Given the description of an element on the screen output the (x, y) to click on. 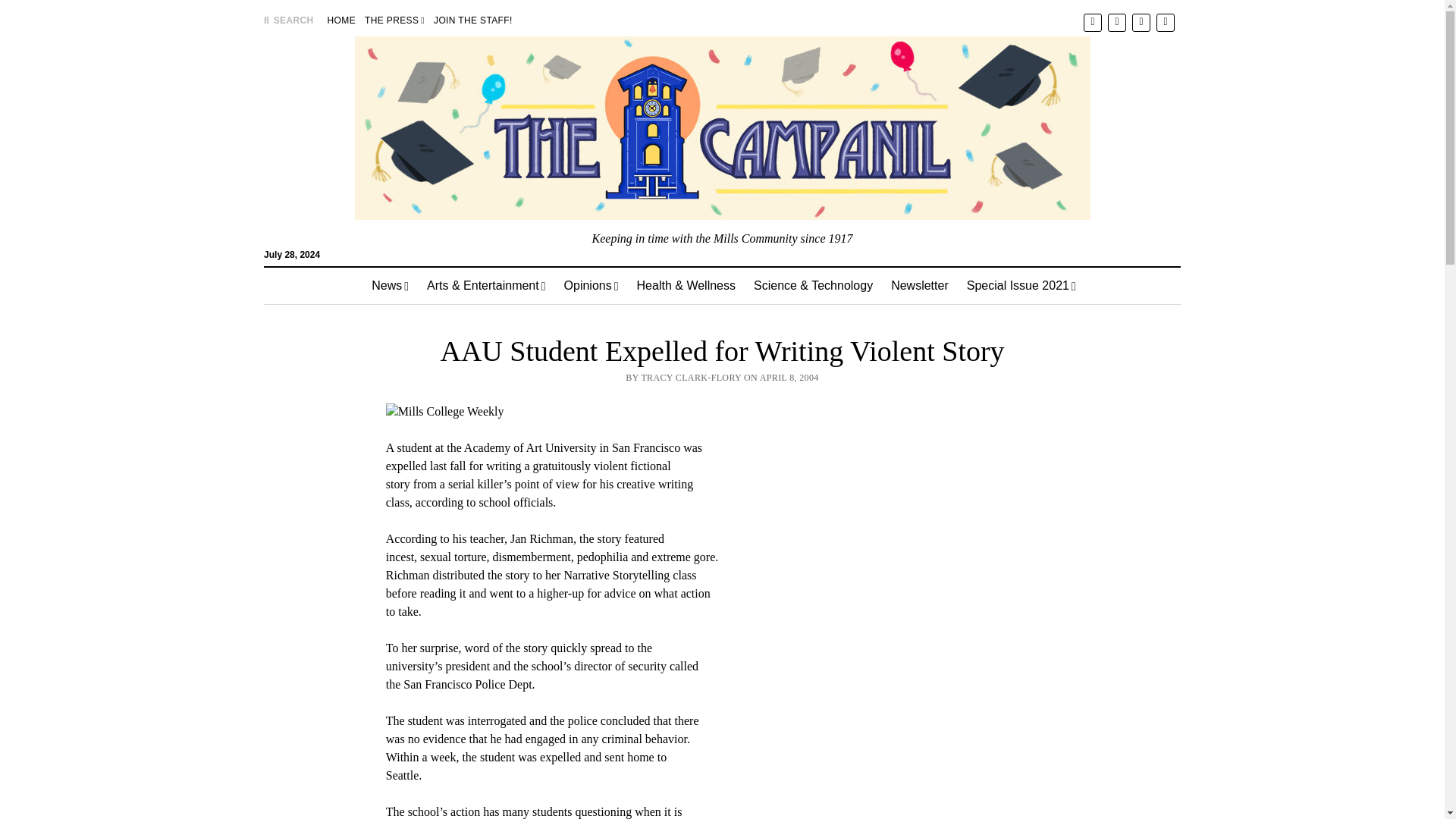
Special Issue 2021 (1021, 285)
SEARCH (288, 20)
Search (945, 129)
Opinions (590, 285)
Newsletter (920, 285)
THE PRESS (395, 20)
News (389, 285)
JOIN THE STAFF! (472, 20)
HOME (341, 20)
